Given the description of an element on the screen output the (x, y) to click on. 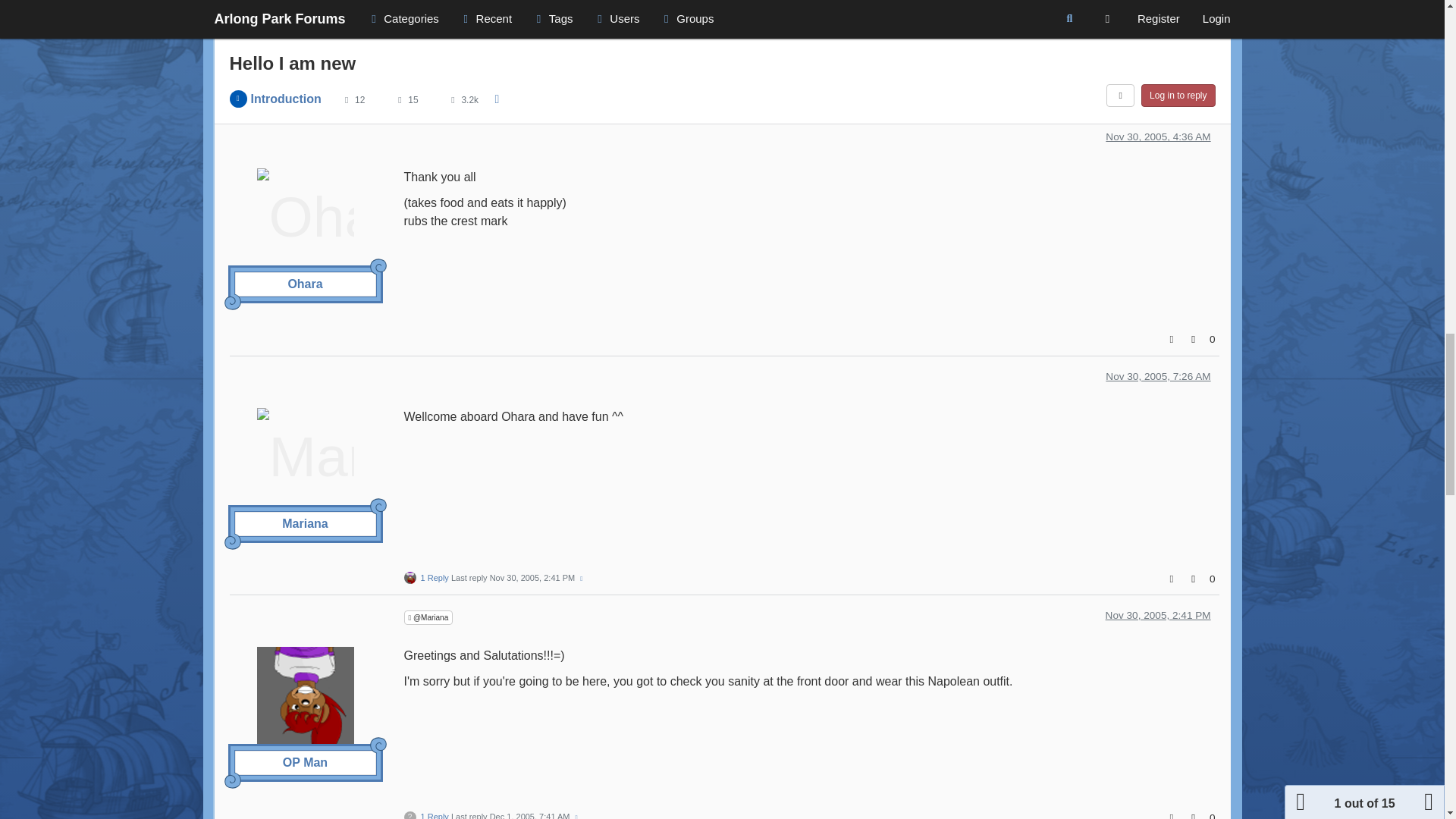
spiral (378, 506)
spiral (232, 541)
spiral (378, 745)
spiral (378, 27)
spiral (232, 62)
spiral (378, 266)
spiral (232, 780)
spiral (232, 301)
